Given the description of an element on the screen output the (x, y) to click on. 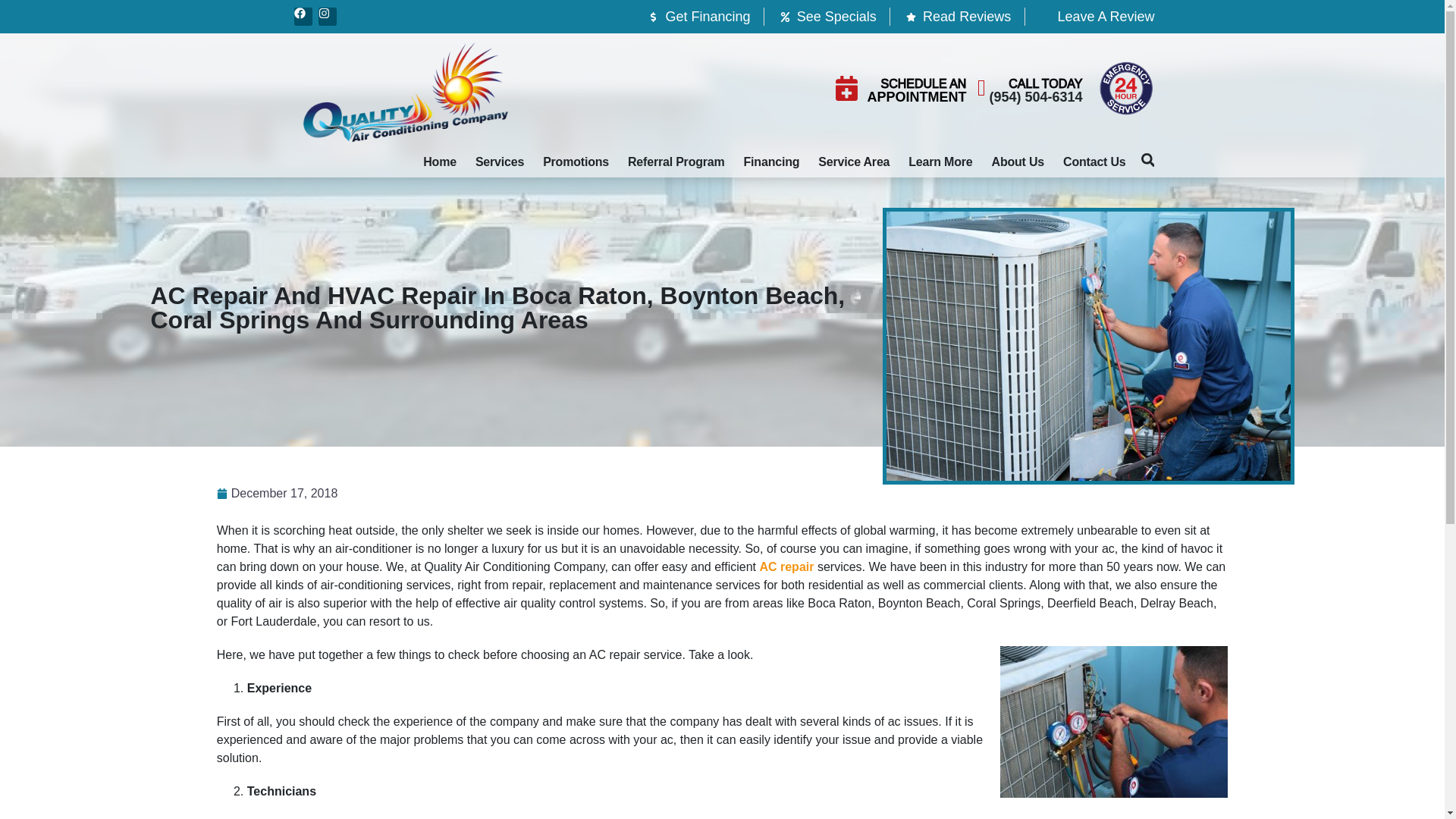
SCHEDULE AN (923, 83)
See Specials (826, 16)
Learn More (940, 162)
Leave A Review (1096, 16)
Promotions (575, 162)
Get Financing (697, 16)
Service Area (853, 162)
Referral Program (676, 162)
Financing (771, 162)
Services (500, 162)
